Given the description of an element on the screen output the (x, y) to click on. 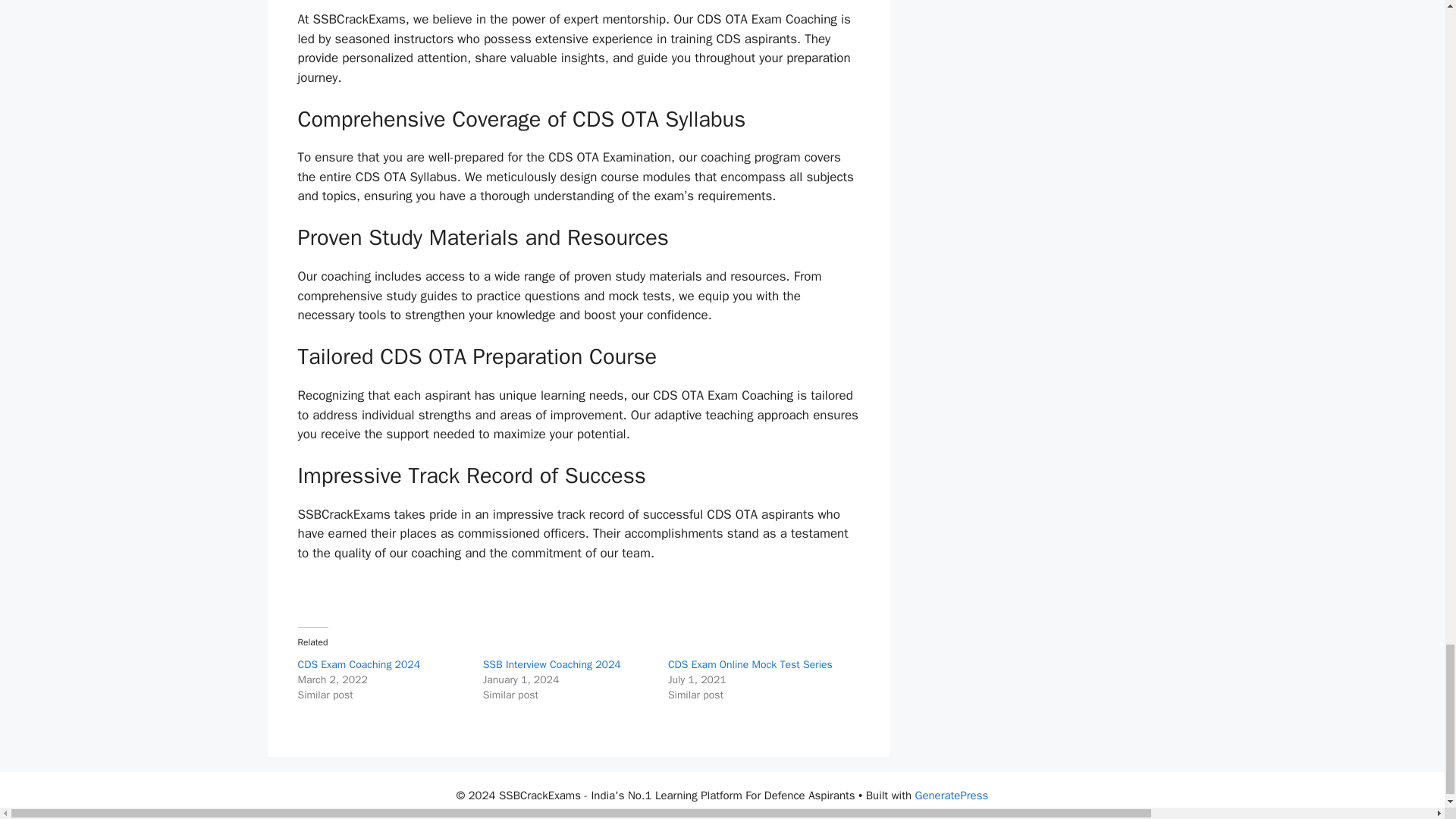
SSB Interview Coaching 2024 (552, 664)
CDS Exam Coaching 2024 (358, 664)
SSB Interview Coaching 2024 (552, 664)
CDS Exam Online Mock Test Series (750, 664)
CDS Exam Online Mock Test Series (750, 664)
GeneratePress (951, 795)
CDS Exam Coaching 2024 (358, 664)
